Given the description of an element on the screen output the (x, y) to click on. 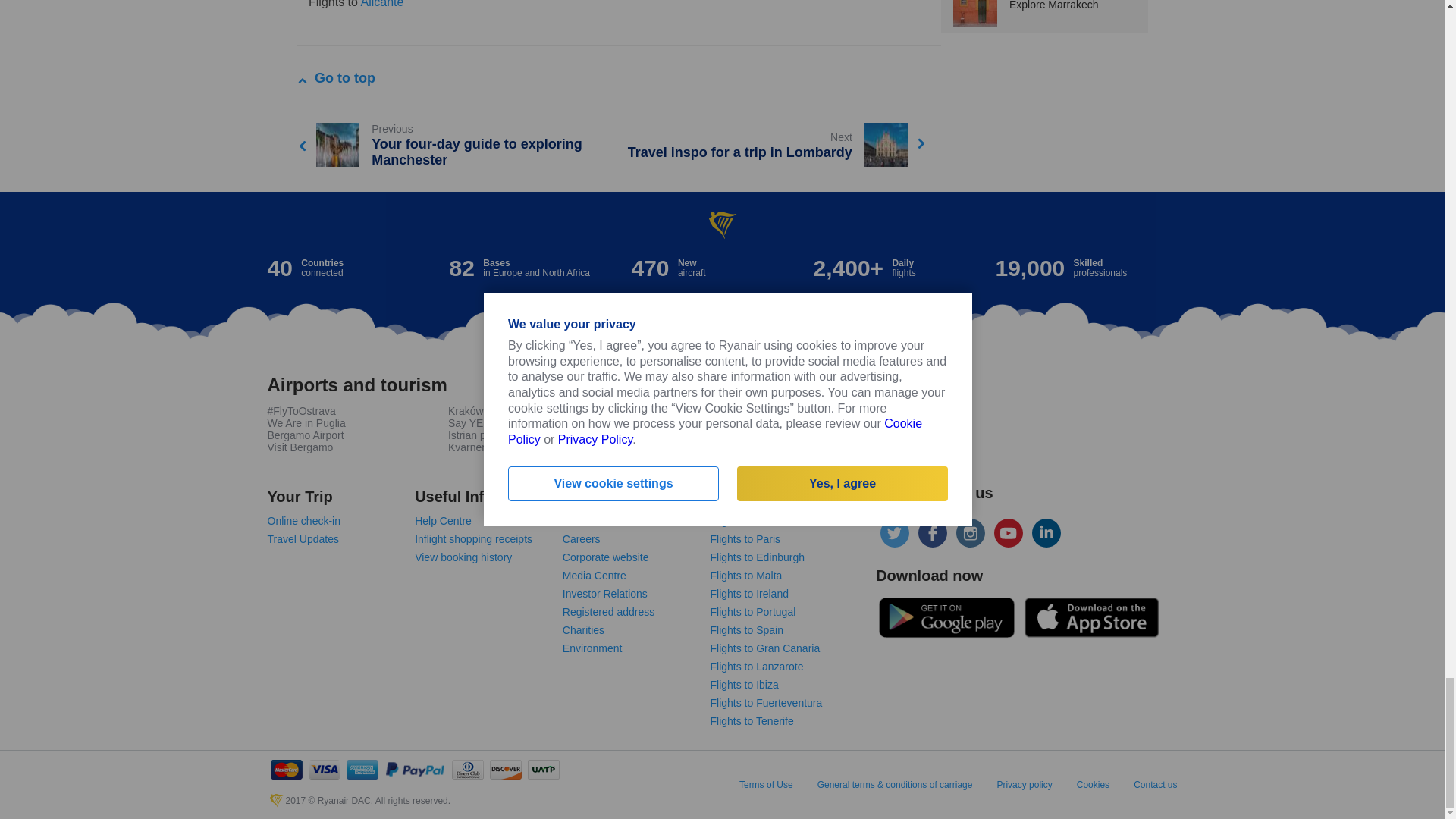
Apple   (946, 617)
Go to top (344, 78)
iTunes   (1090, 617)
